Given the description of an element on the screen output the (x, y) to click on. 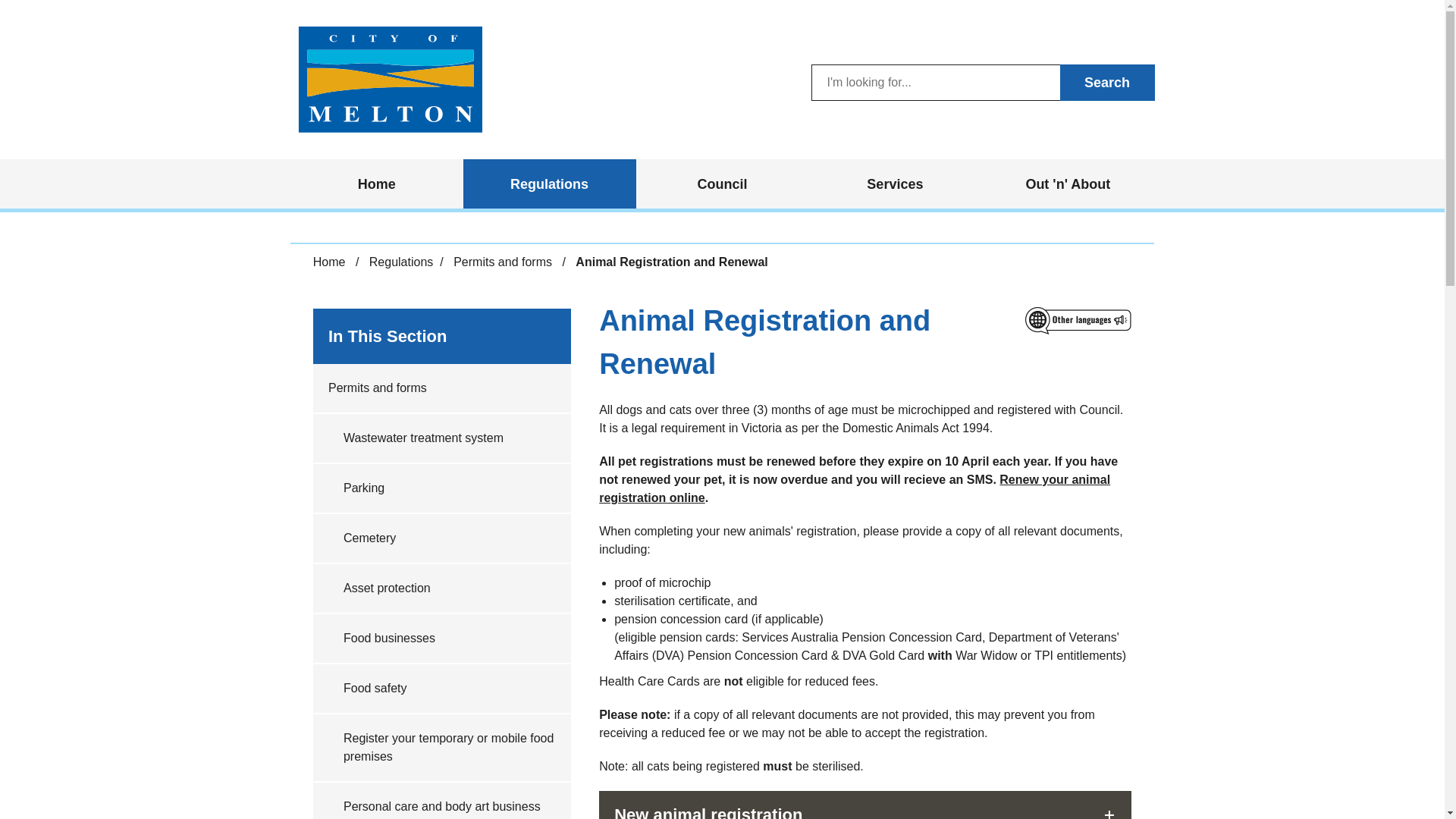
Regulations (549, 183)
Search (1106, 82)
Search (1106, 82)
City of Melton - Home - Logo (389, 79)
Home (376, 183)
Search (1106, 82)
